Given the description of an element on the screen output the (x, y) to click on. 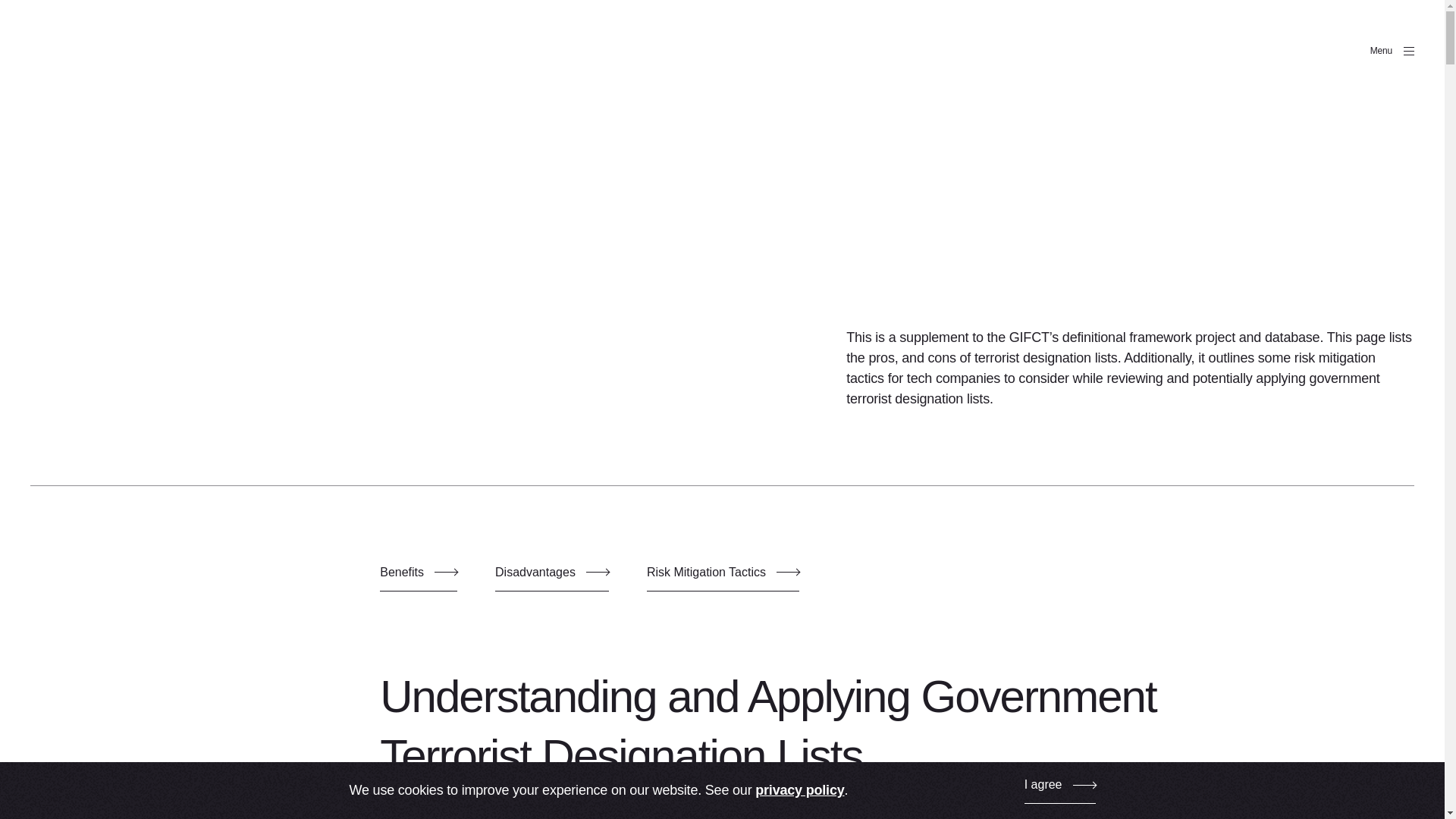
Risk Mitigation Tactics (722, 578)
Privacy policy (799, 789)
Benefits (418, 578)
Disadvantages (551, 578)
